Given the description of an element on the screen output the (x, y) to click on. 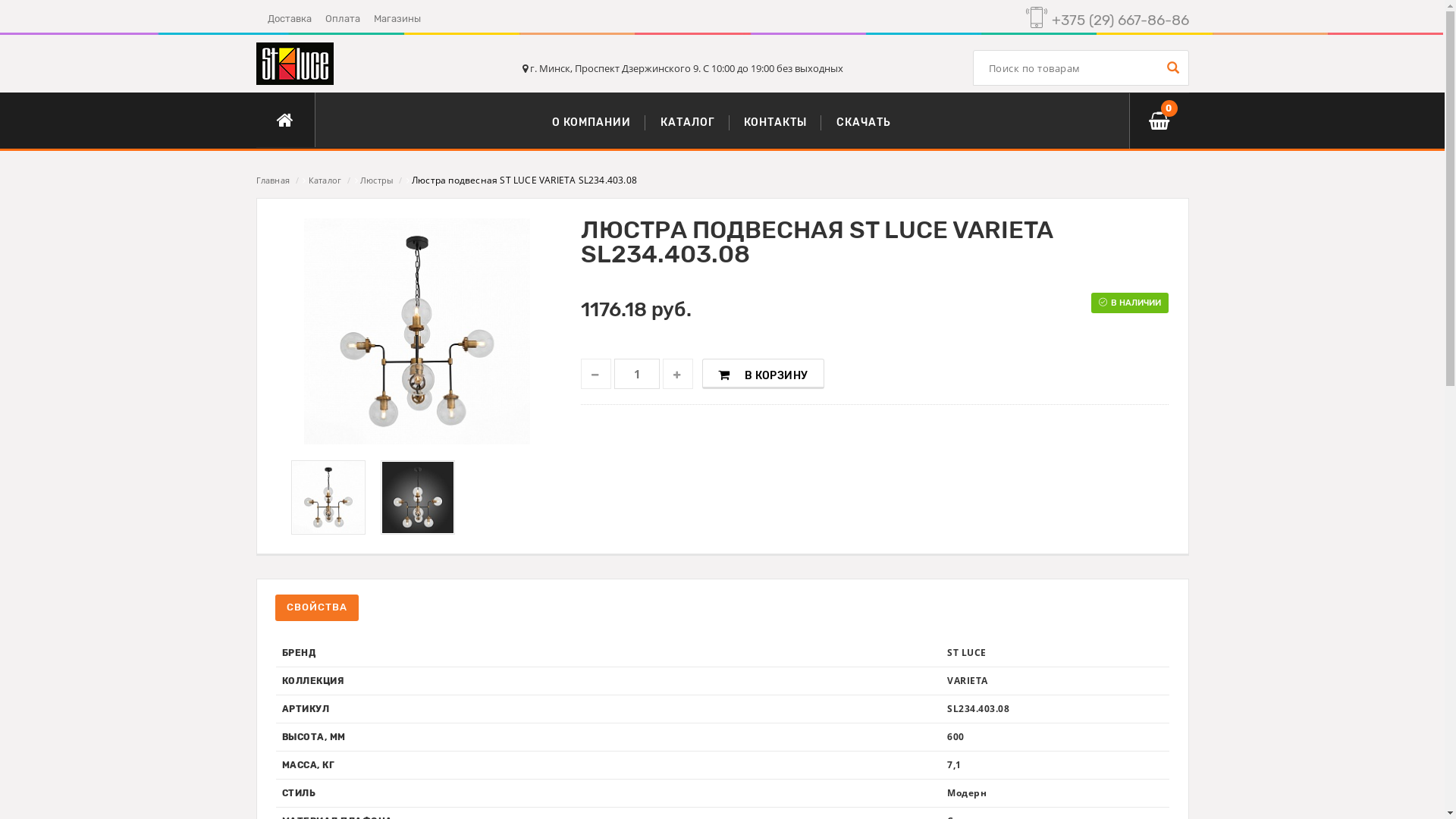
  Element type: text (595, 373)
Qty Element type: hover (636, 373)
0 Element type: text (1158, 120)
  Element type: text (677, 373)
+375 (29) 667-86-86 Element type: text (1117, 20)
  Element type: text (1171, 67)
